Given the description of an element on the screen output the (x, y) to click on. 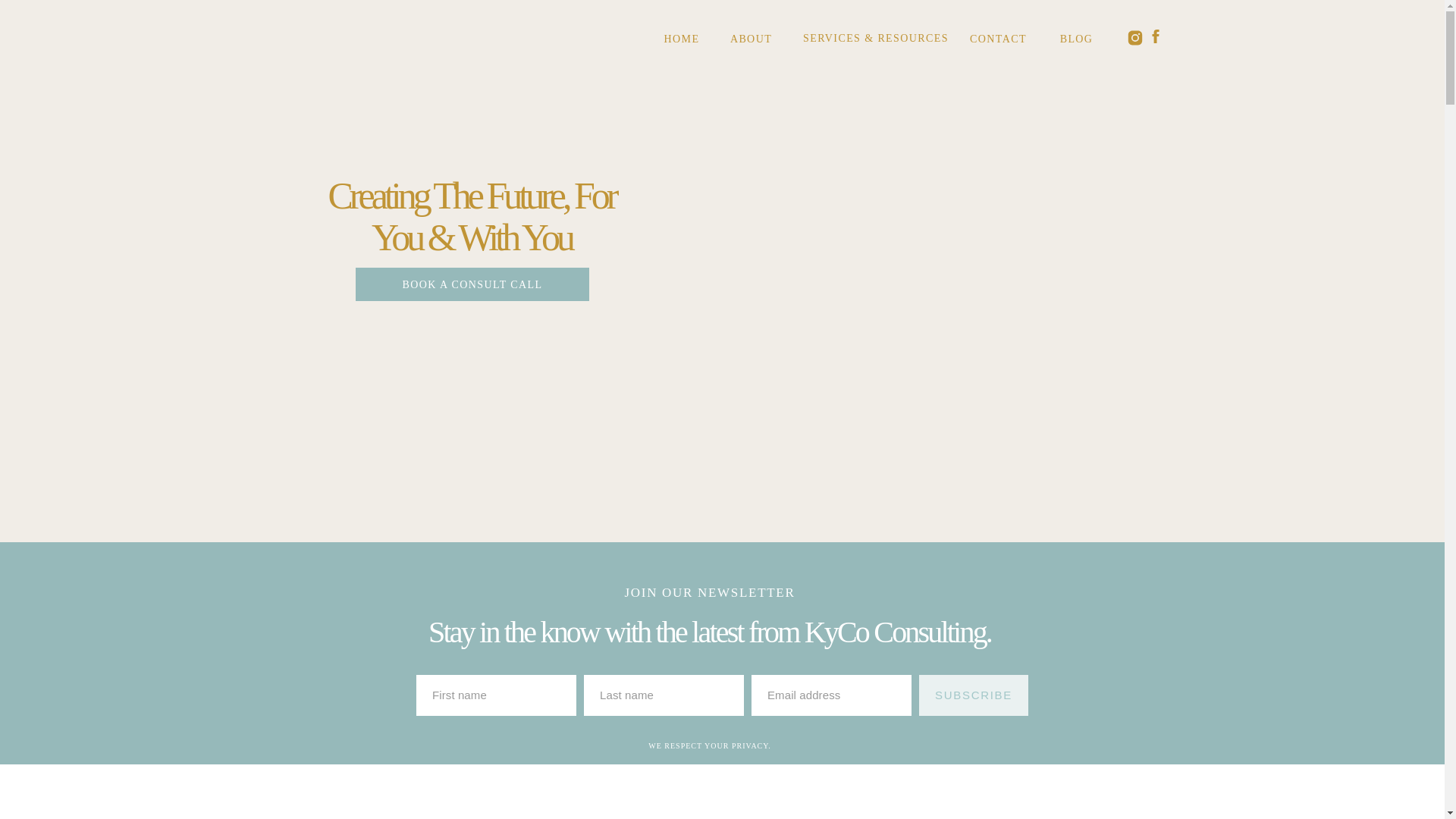
SUBSCRIBE (972, 694)
ABOUT (750, 39)
WE RESPECT YOUR PRIVACY. (709, 745)
HOME (681, 39)
CONTACT (997, 39)
BLOG (1076, 39)
BOOK A CONSULT CALL (471, 283)
